Given the description of an element on the screen output the (x, y) to click on. 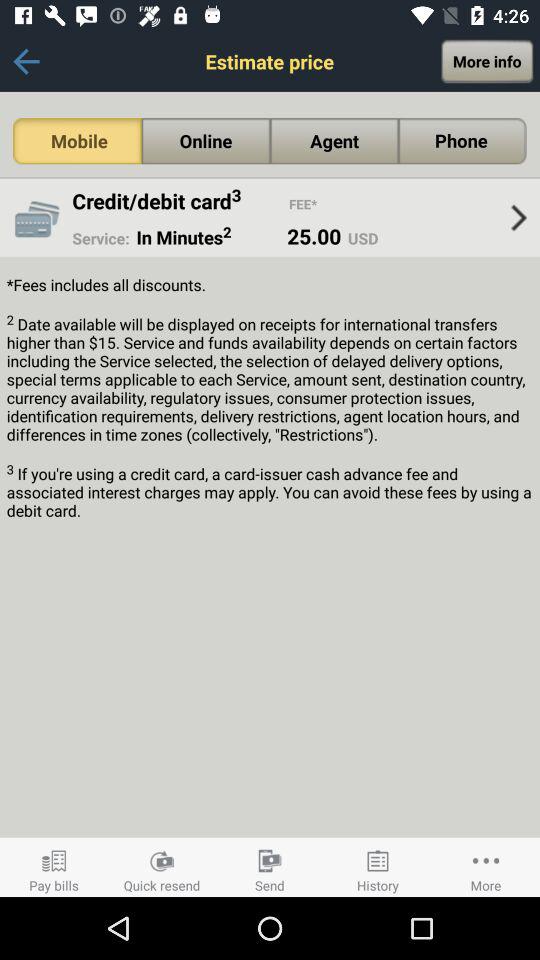
open item below mobile item (36, 218)
